Given the description of an element on the screen output the (x, y) to click on. 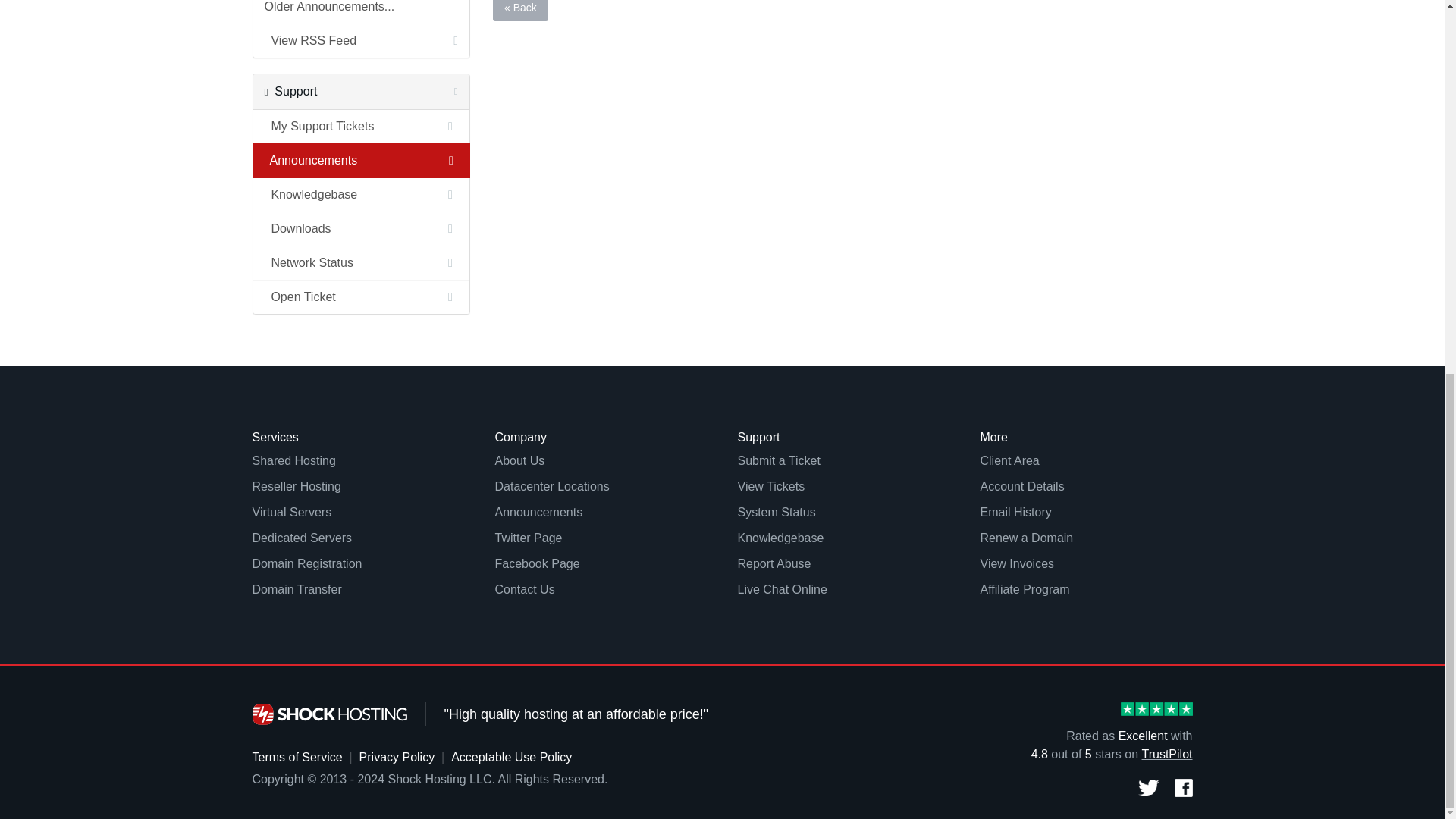
Shock Hosting (328, 713)
LiveChat chat widget (1405, 103)
